Given the description of an element on the screen output the (x, y) to click on. 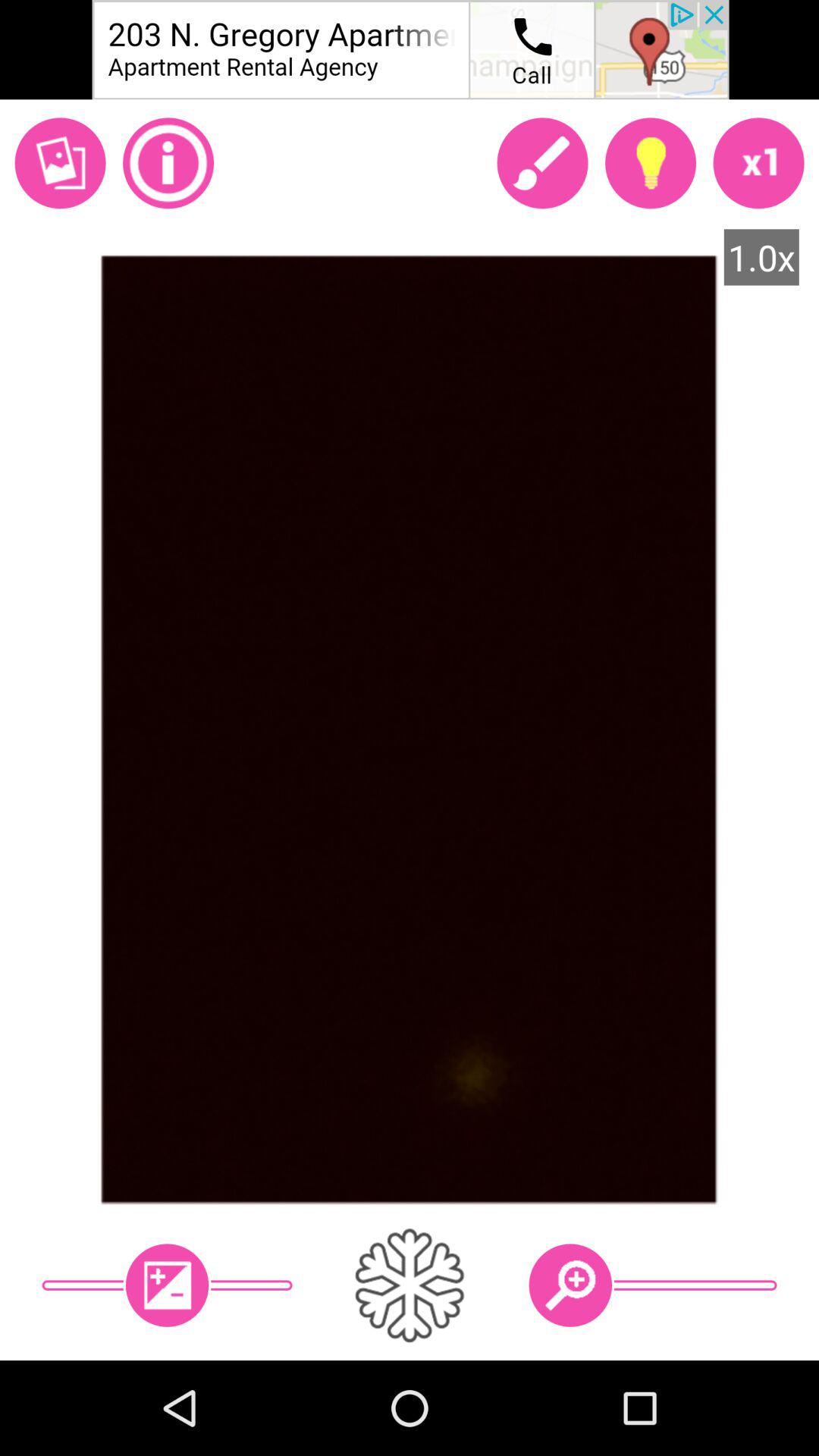
apply makeup (542, 163)
